Given the description of an element on the screen output the (x, y) to click on. 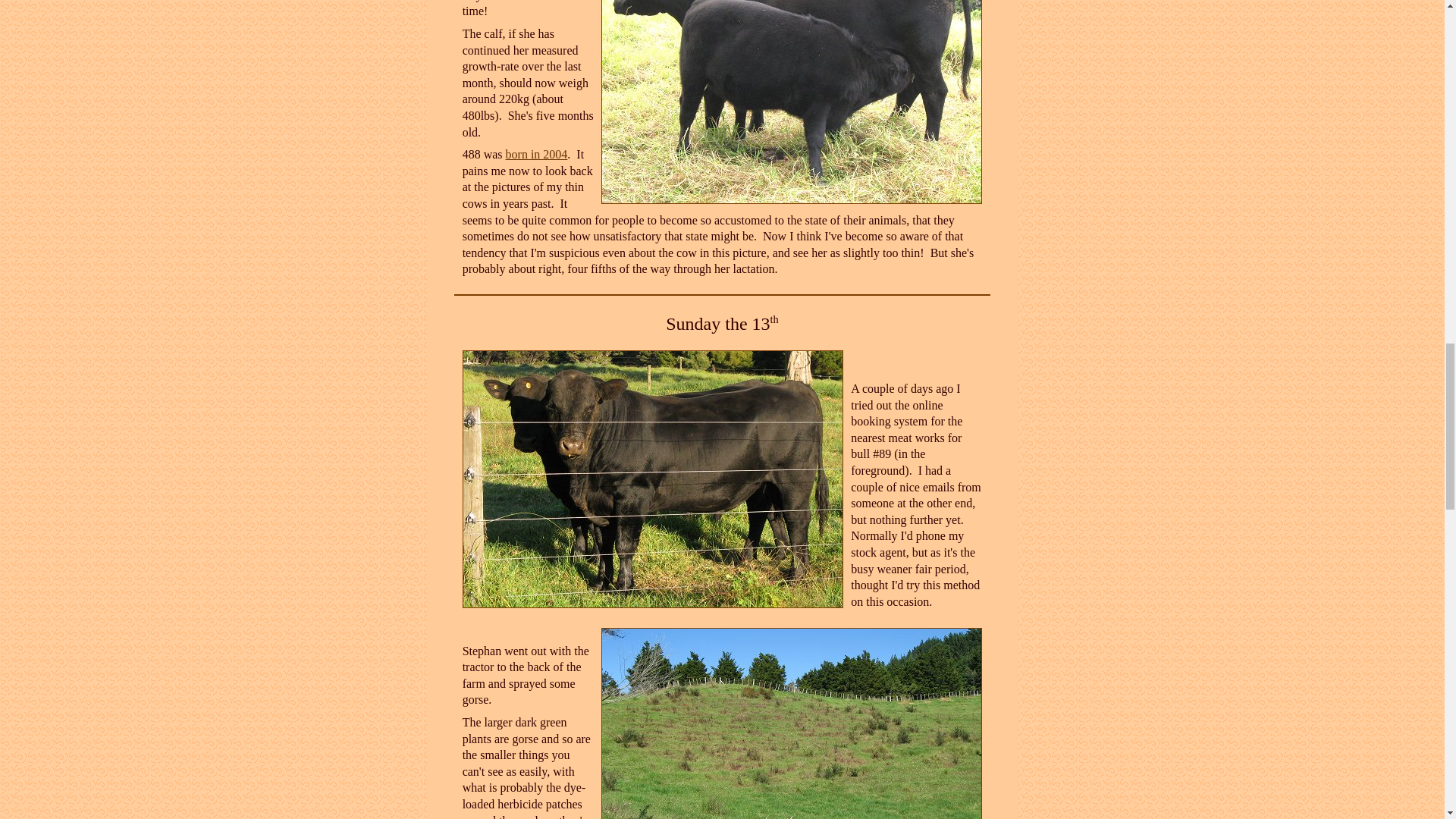
born in 2004 (536, 154)
